Given the description of an element on the screen output the (x, y) to click on. 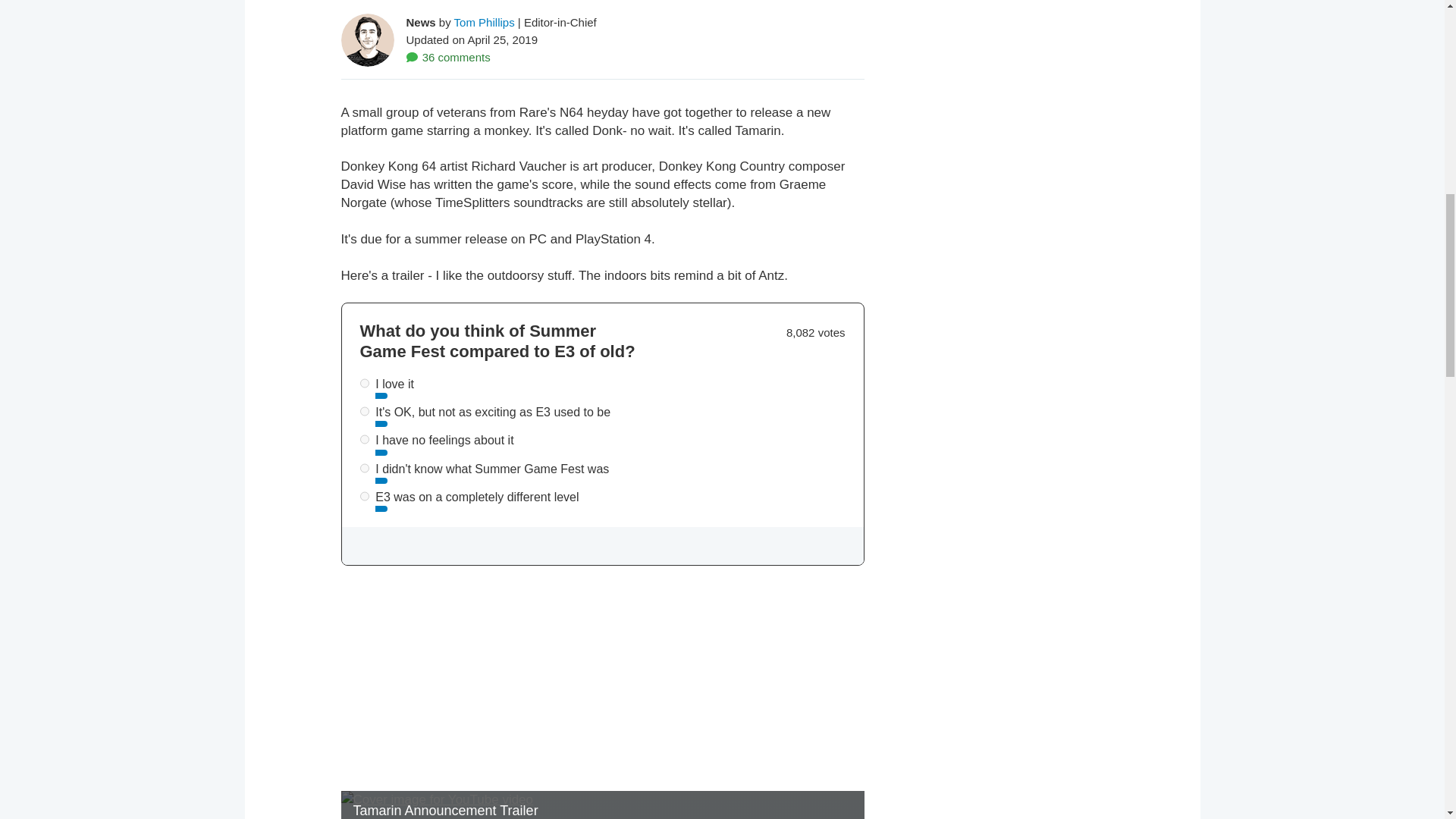
Tamarin Announcement Trailer (602, 805)
on (364, 383)
Tom Phillips (484, 21)
on (364, 439)
Click to play video from YouTube (602, 805)
36 comments (448, 56)
on (364, 411)
on (364, 468)
on (364, 496)
